Given the description of an element on the screen output the (x, y) to click on. 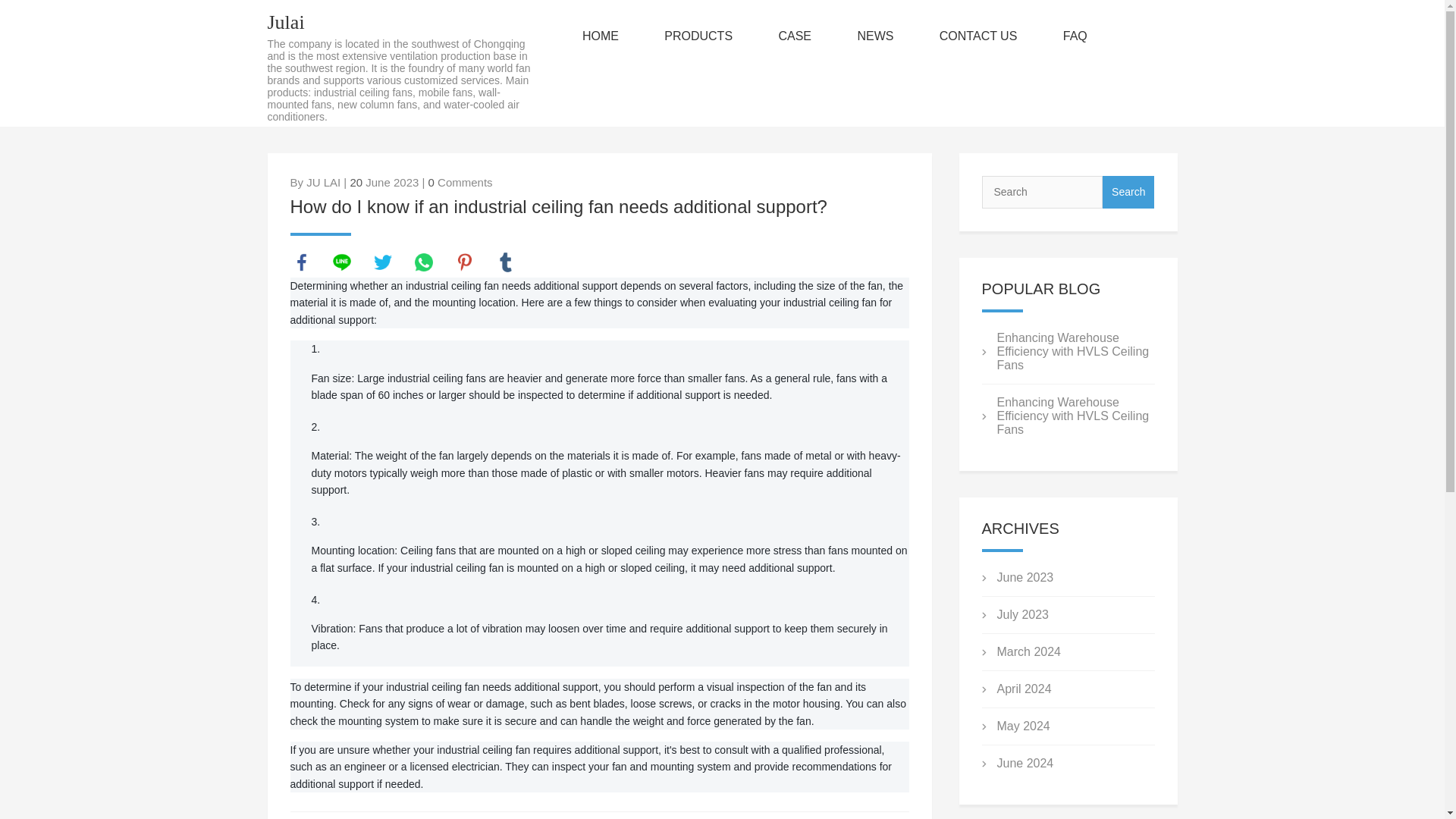
Search (1128, 192)
Search (1128, 192)
June 2023 (1023, 576)
line (341, 261)
facebook (301, 261)
March 2024 (1028, 651)
April 2024 (1023, 688)
Enhancing Warehouse Efficiency with HVLS Ceiling Fans (1071, 351)
PRODUCTS (698, 36)
whatsapp (423, 261)
